Given the description of an element on the screen output the (x, y) to click on. 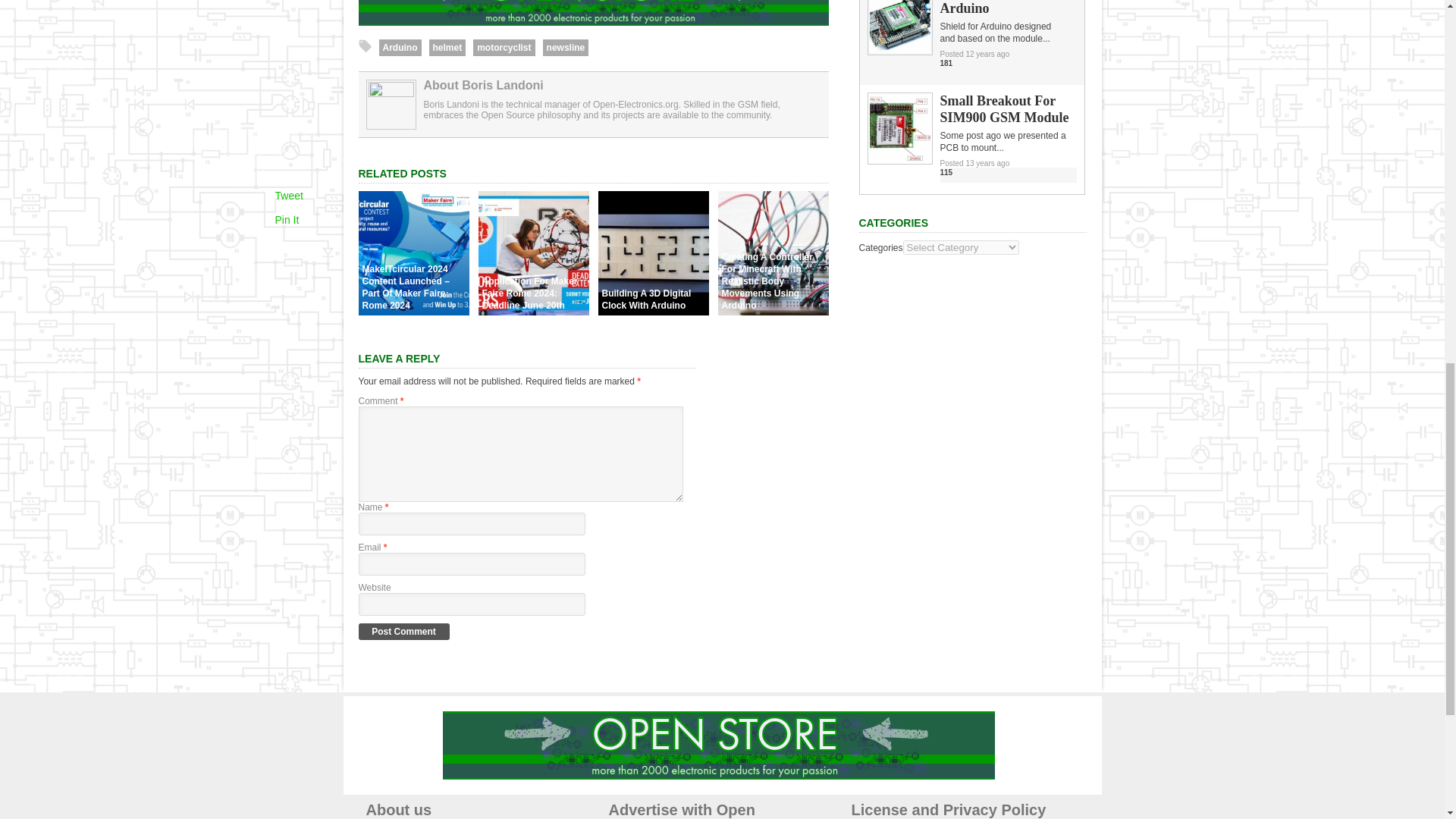
Post Comment (403, 631)
Building a 3D Digital Clock with Arduino (651, 311)
Application For Maker Faire Rome 2024: Deadline June 20th (532, 311)
GSM GPS shield for Arduino (899, 50)
